Given the description of an element on the screen output the (x, y) to click on. 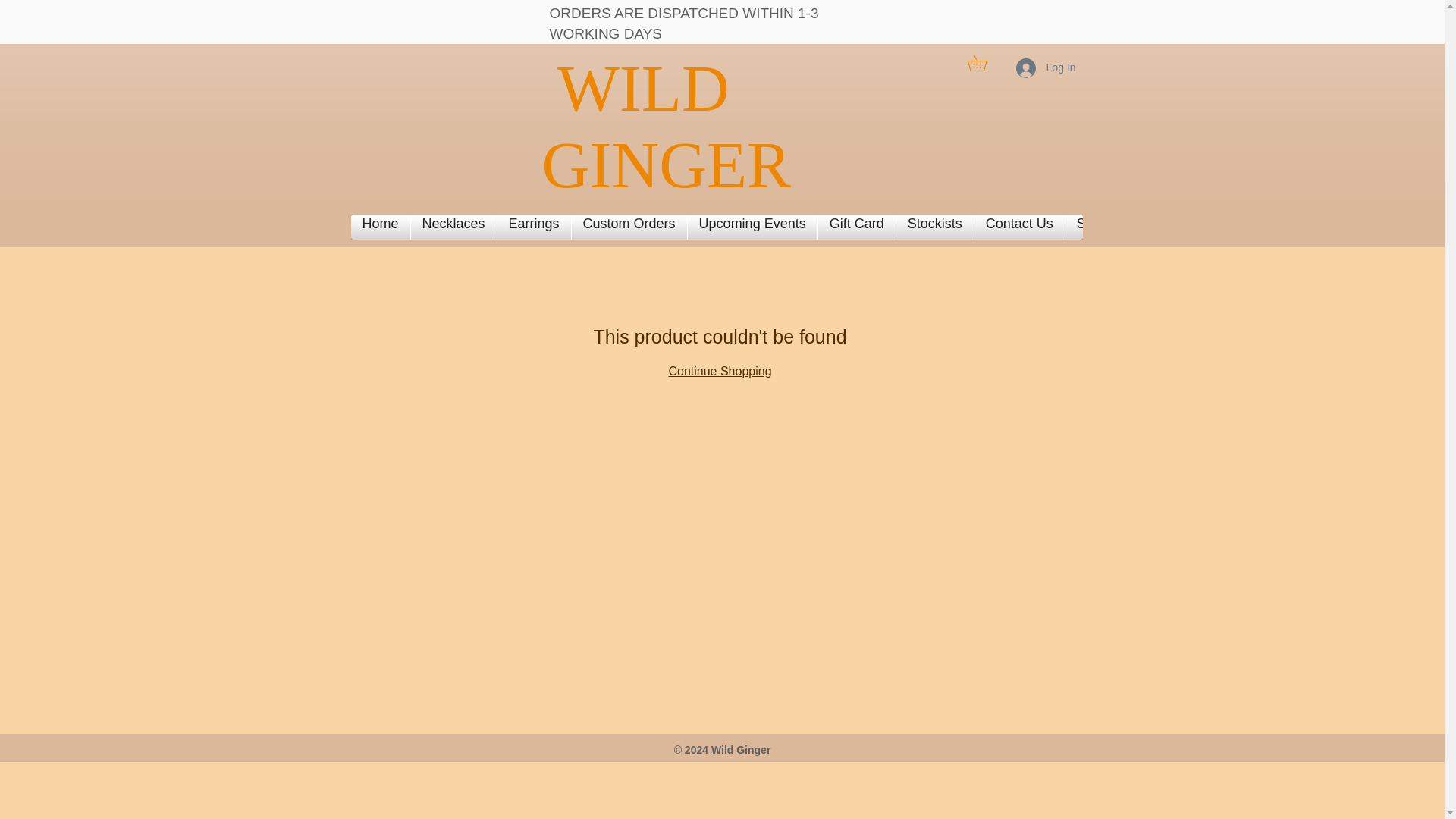
Stockists (934, 226)
Upcoming Events (752, 226)
Log In (1046, 68)
Home (380, 226)
Contact Us (1019, 226)
Custom Orders (628, 226)
Continue Shopping (719, 370)
Earrings (533, 226)
Necklaces (453, 226)
Store Policy (1112, 226)
Gift Card (856, 226)
